Given the description of an element on the screen output the (x, y) to click on. 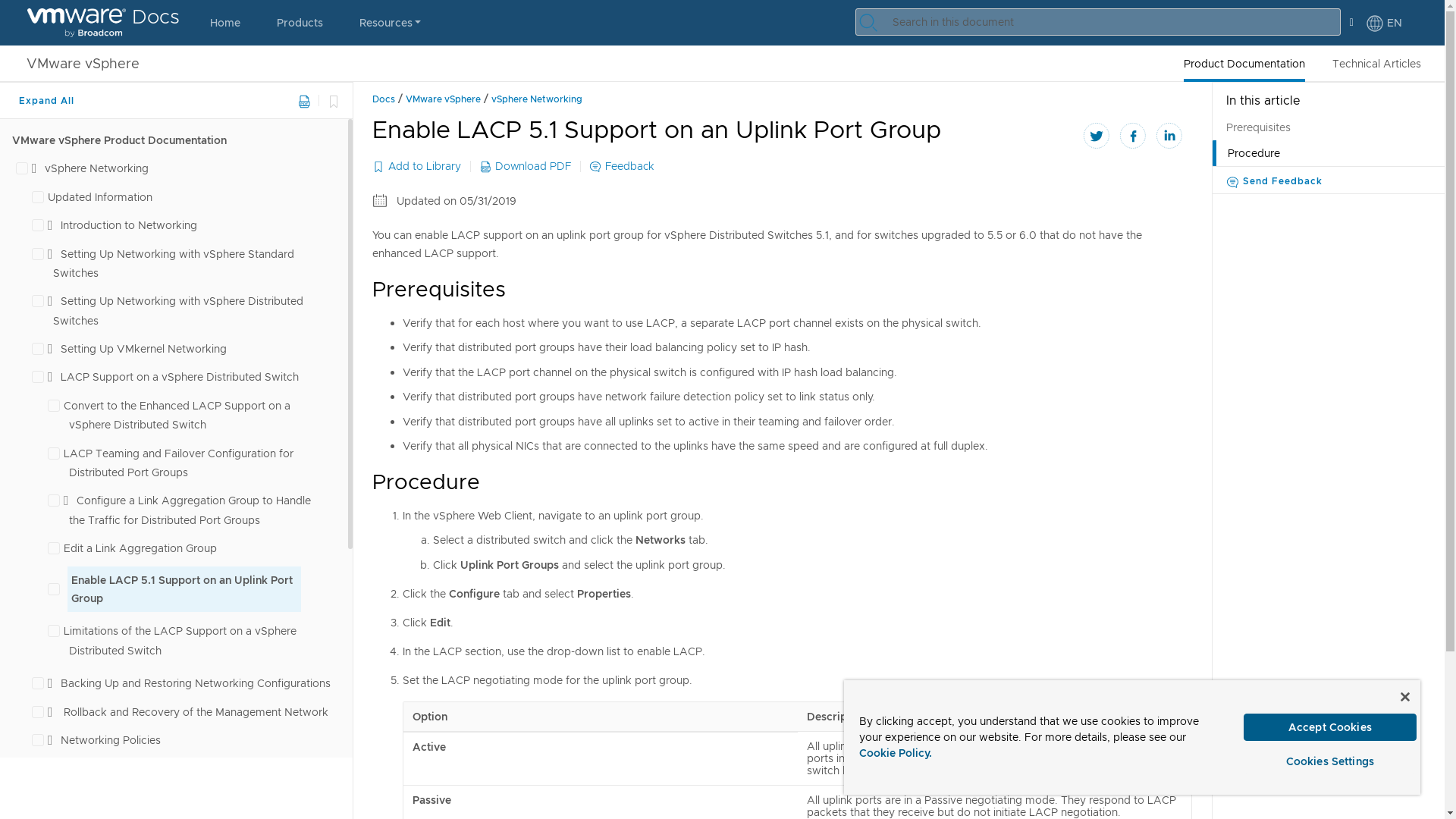
Docs (103, 22)
Products (299, 22)
Resources (389, 22)
Home (225, 22)
